Given the description of an element on the screen output the (x, y) to click on. 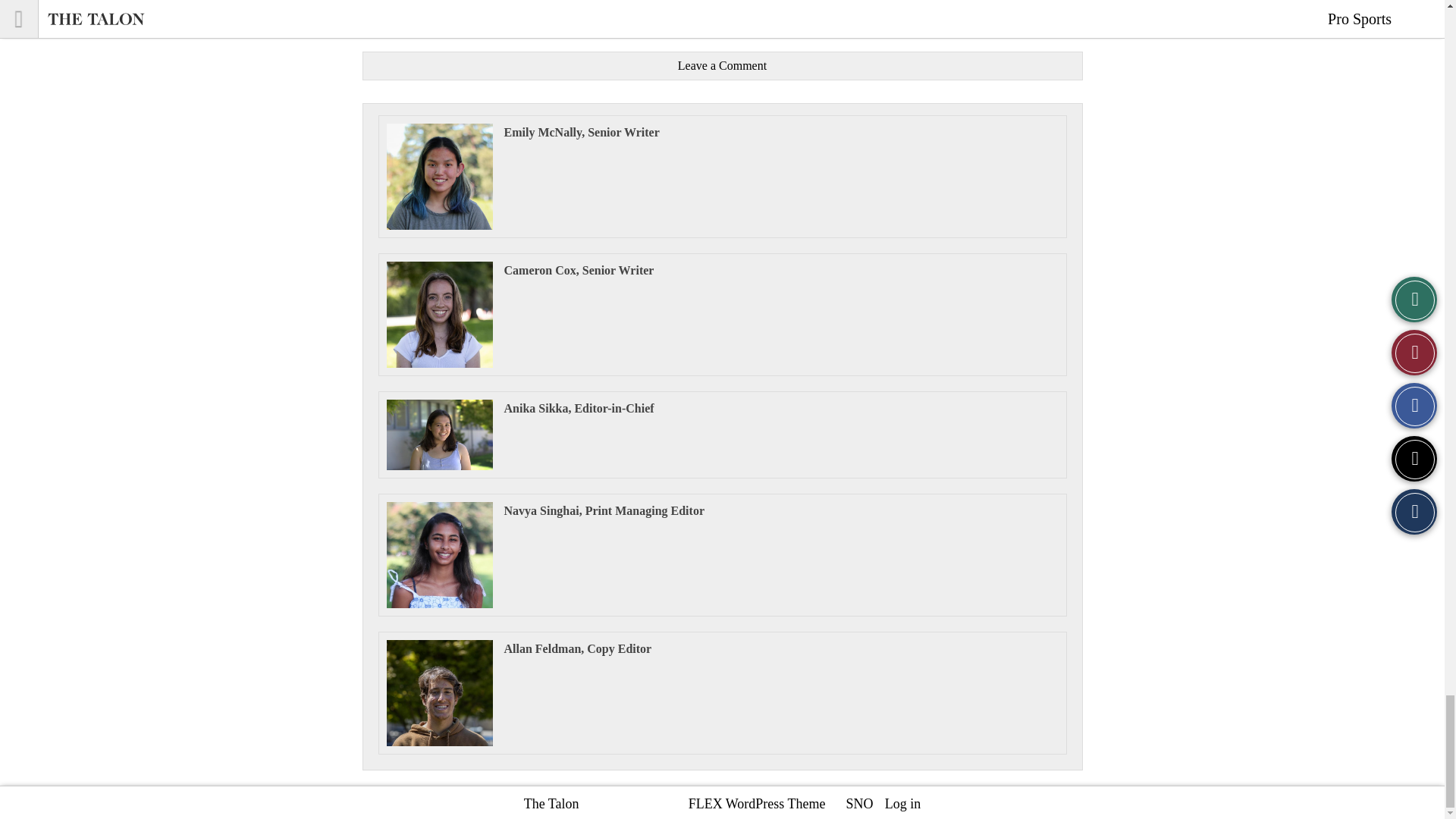
the MLS website (766, 14)
